Given the description of an element on the screen output the (x, y) to click on. 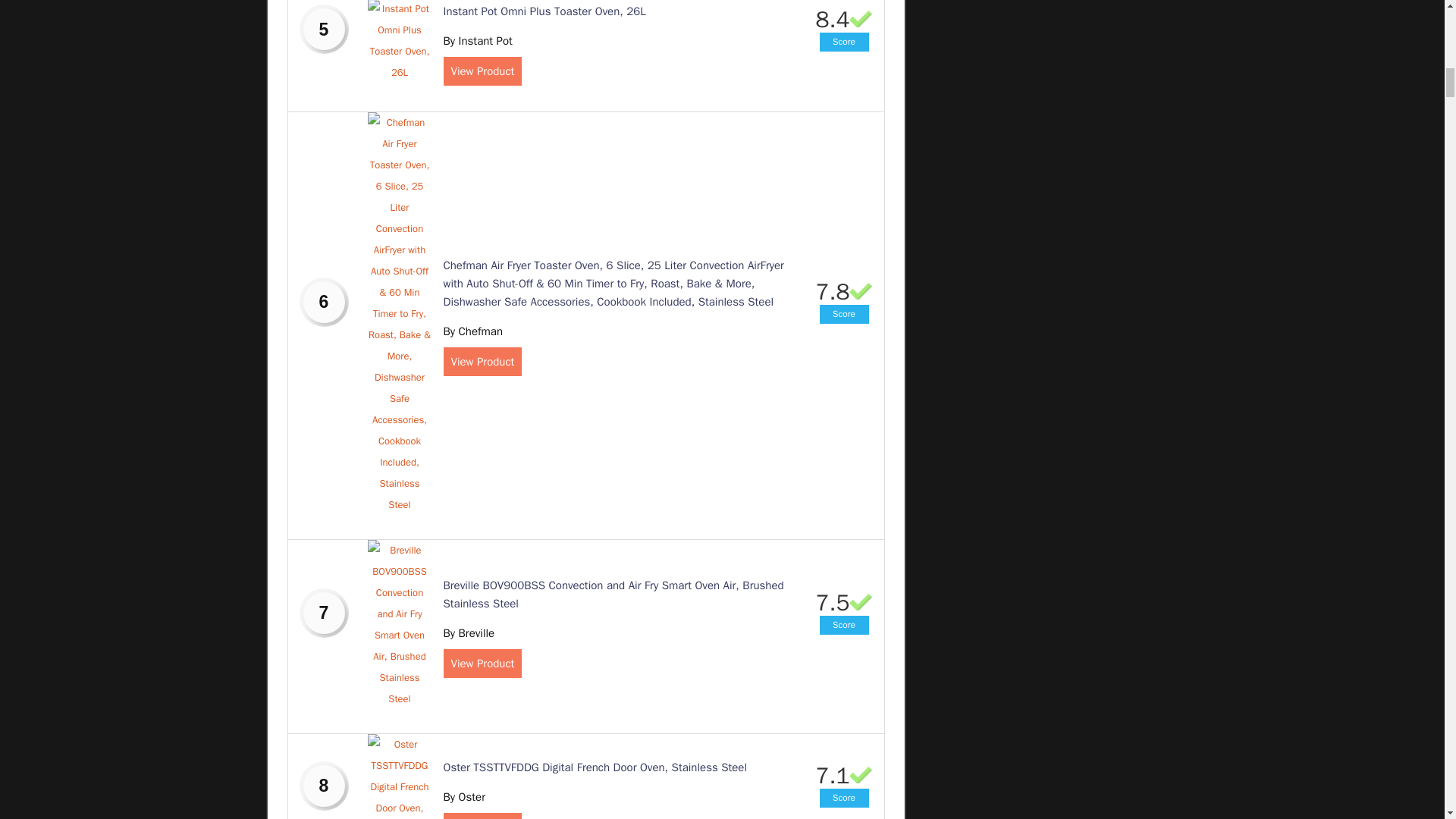
View Product (481, 663)
By Chefman (472, 331)
By Instant Pot (477, 40)
By Breville (468, 632)
View Product (481, 70)
Instant Pot Omni Plus Toaster Oven, 26L (543, 11)
View Product (481, 361)
